Given the description of an element on the screen output the (x, y) to click on. 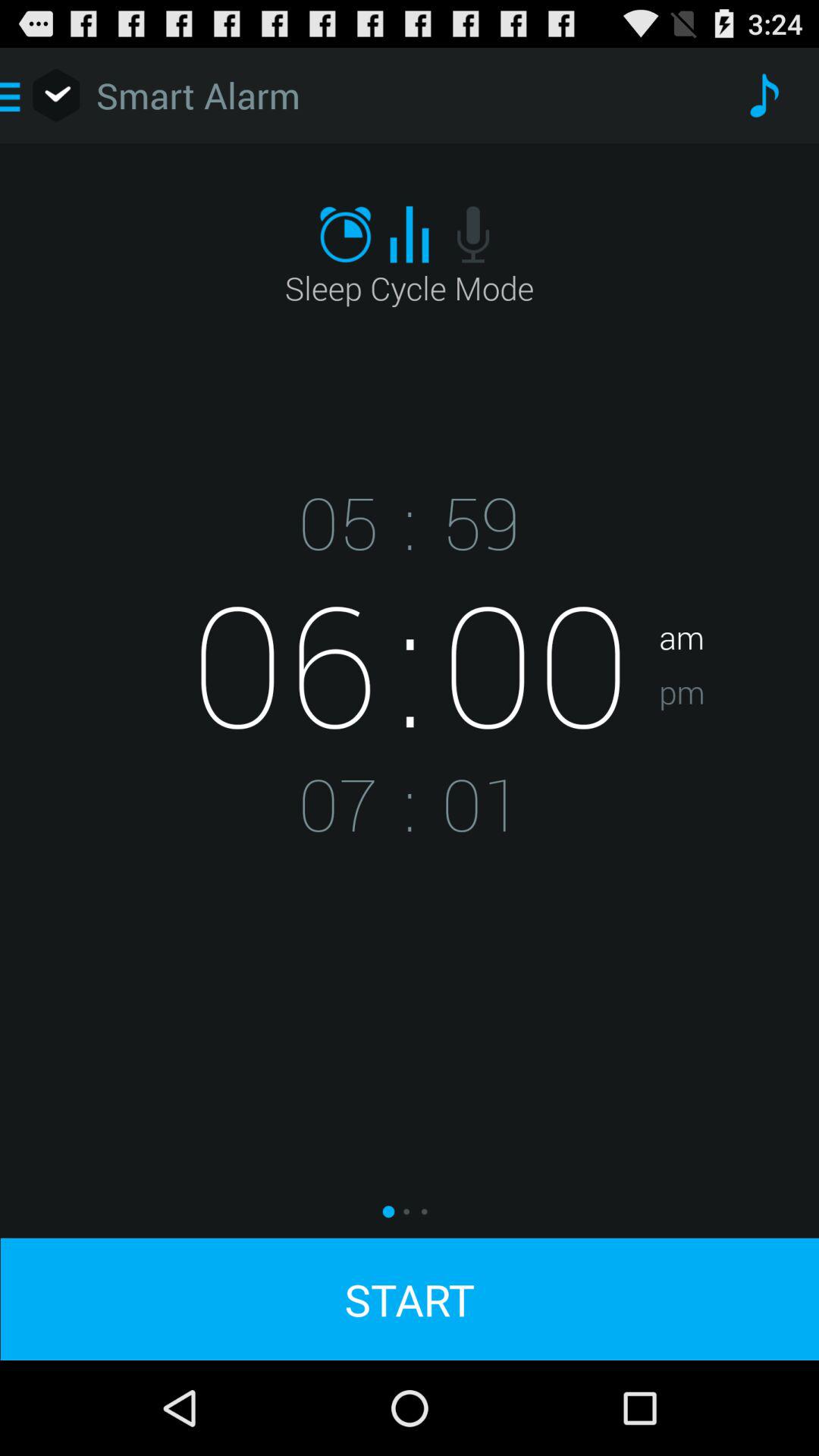
jump to the am icon (739, 589)
